Given the description of an element on the screen output the (x, y) to click on. 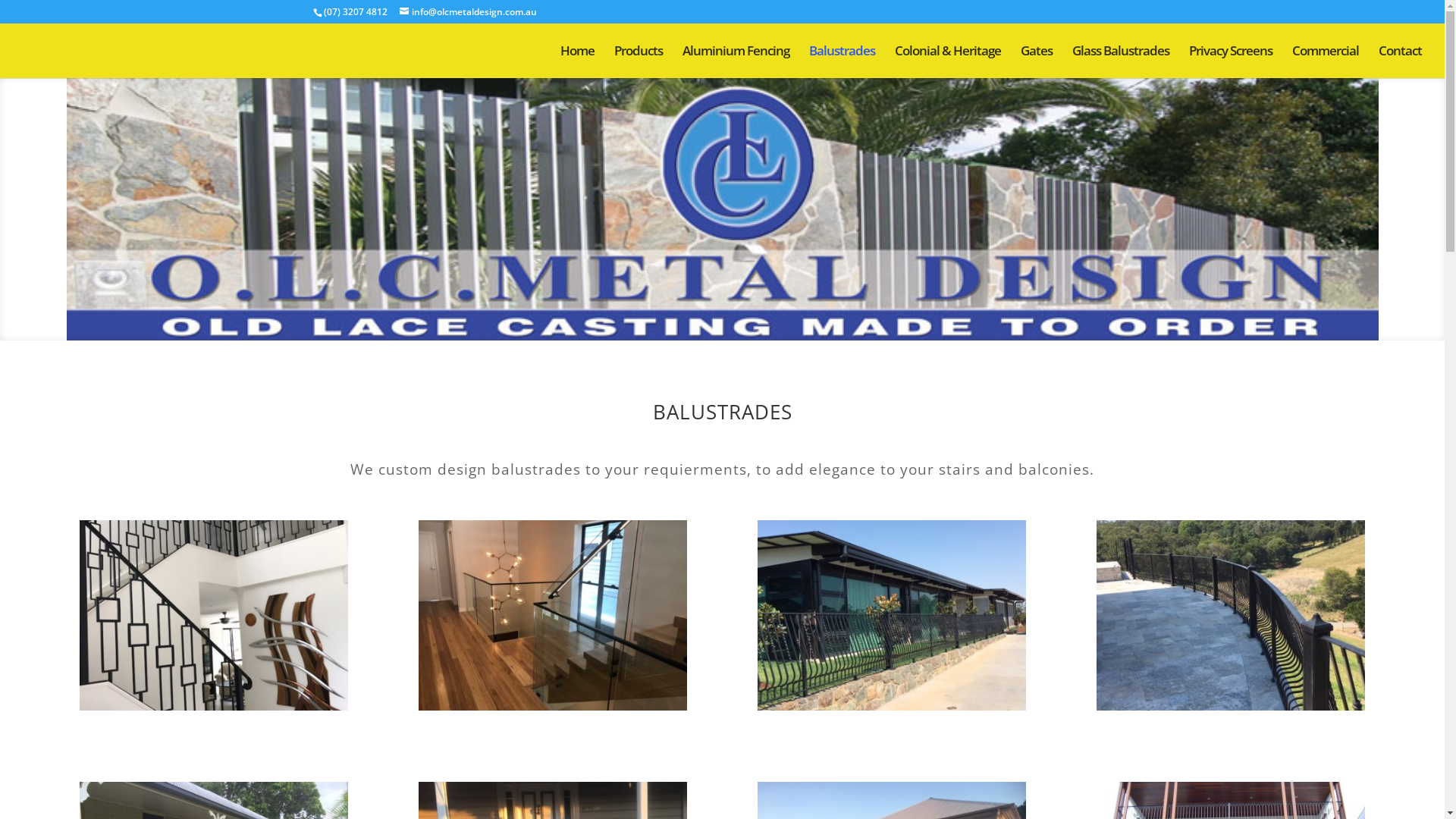
IMG_2712 Element type: hover (891, 706)
Glass Balustrades Element type: text (1120, 61)
info@olcmetaldesign.com.au Element type: text (467, 11)
IMG_2693 Element type: hover (1230, 706)
IMG_4068 Element type: hover (552, 706)
Contact Element type: text (1399, 61)
Gates Element type: text (1036, 61)
Aluminium Fencing Element type: text (735, 61)
Balustrades Element type: text (842, 61)
Products Element type: text (638, 61)
IMG_2432 Element type: hover (213, 706)
Privacy Screens Element type: text (1230, 61)
Commercial Element type: text (1325, 61)
Colonial & Heritage Element type: text (947, 61)
Home Element type: text (577, 61)
